Given the description of an element on the screen output the (x, y) to click on. 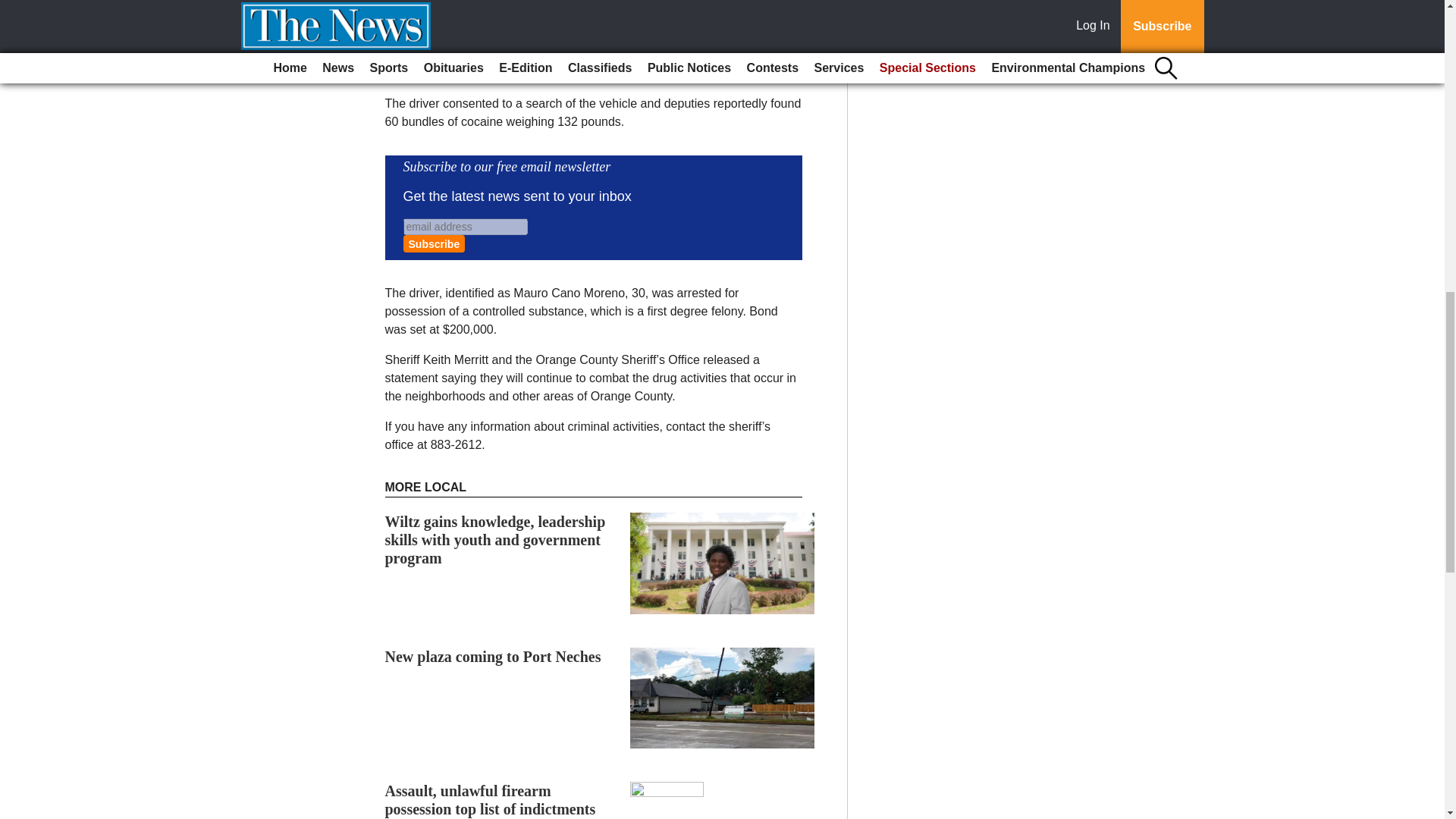
Subscribe (434, 243)
Subscribe (434, 243)
Assault, unlawful firearm possession top list of indictments (490, 799)
New plaza coming to Port Neches (493, 656)
New plaza coming to Port Neches (493, 656)
Assault, unlawful firearm possession top list of indictments (490, 799)
